Given the description of an element on the screen output the (x, y) to click on. 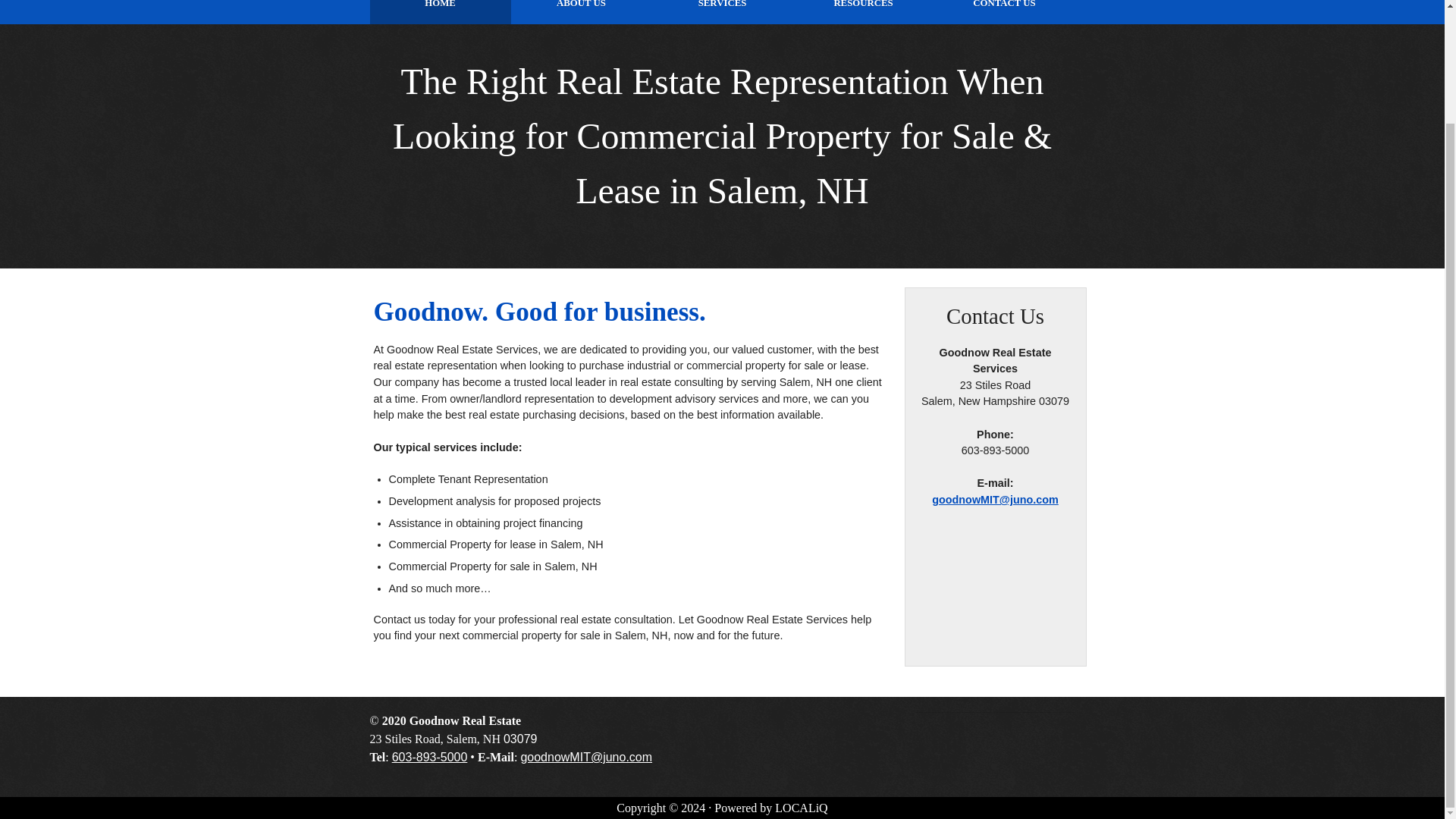
603-893-5000 (429, 757)
LOCALiQ (800, 807)
CONTACT US (1004, 12)
RESOURCES (863, 12)
SERVICES (722, 12)
ABOUT US (581, 12)
HOME (440, 12)
